Given the description of an element on the screen output the (x, y) to click on. 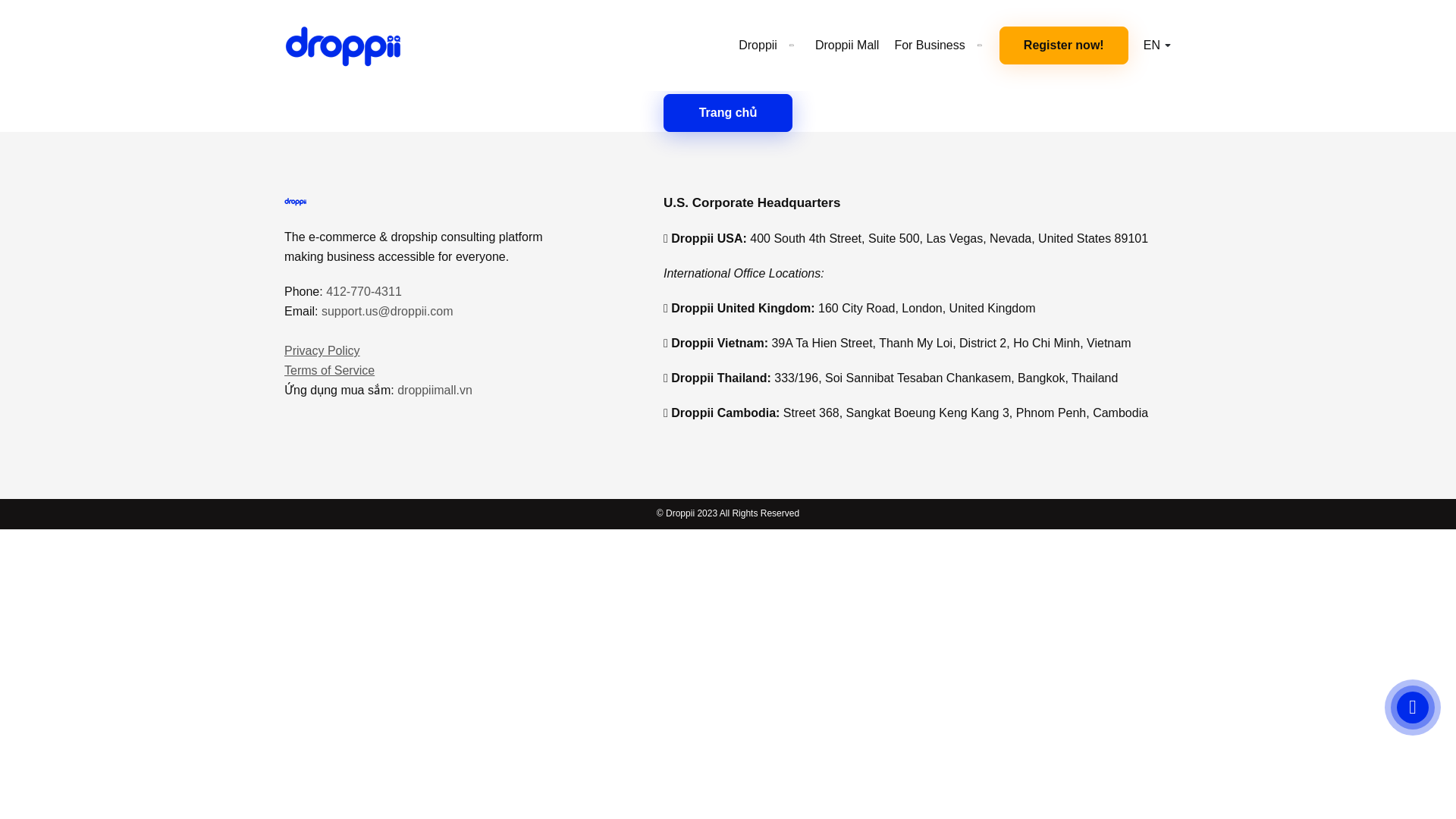
For Business (940, 45)
Register now! (1063, 45)
EN (1156, 45)
Droppii Mall (847, 45)
Droppii (768, 45)
